Given the description of an element on the screen output the (x, y) to click on. 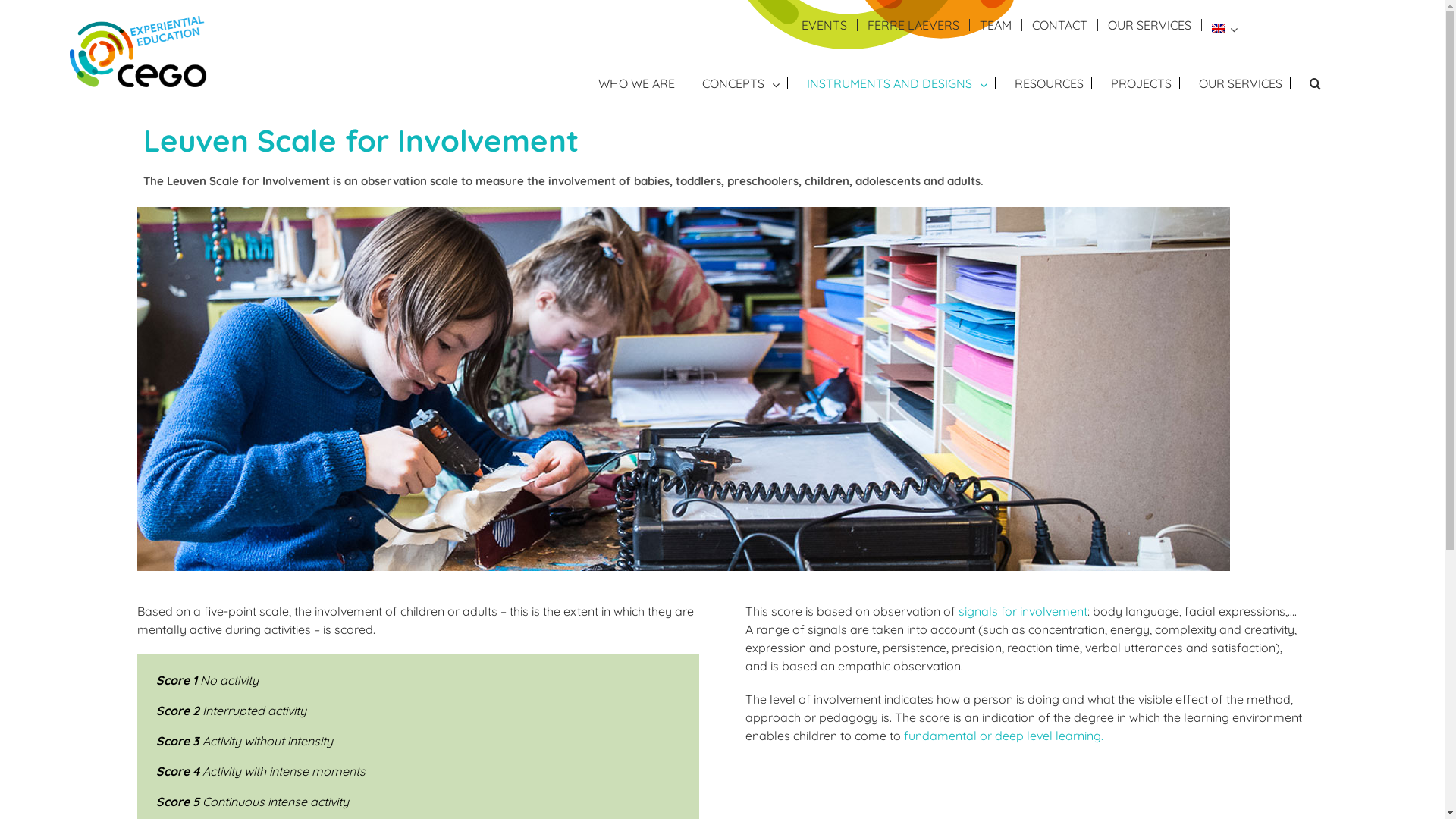
EVENTS Element type: text (823, 24)
INSTRUMENTS AND DESIGNS Element type: text (900, 83)
signals for involvement Element type: text (1022, 610)
English Element type: hover (1218, 28)
WBV_Appeltuin2-92-betrokken Element type: hover (683, 388)
CONCEPTS Element type: text (744, 83)
OUR SERVICES Element type: text (1149, 24)
Search Element type: hover (1319, 83)
CONTACT Element type: text (1059, 24)
RESOURCES Element type: text (1053, 83)
FERRE LAEVERS Element type: text (912, 24)
fundamental or deep level learning. Element type: text (1003, 735)
OUR SERVICES Element type: text (1244, 83)
TEAM Element type: text (994, 24)
WHO WE ARE Element type: text (640, 83)
PROJECTS Element type: text (1144, 83)
